Given the description of an element on the screen output the (x, y) to click on. 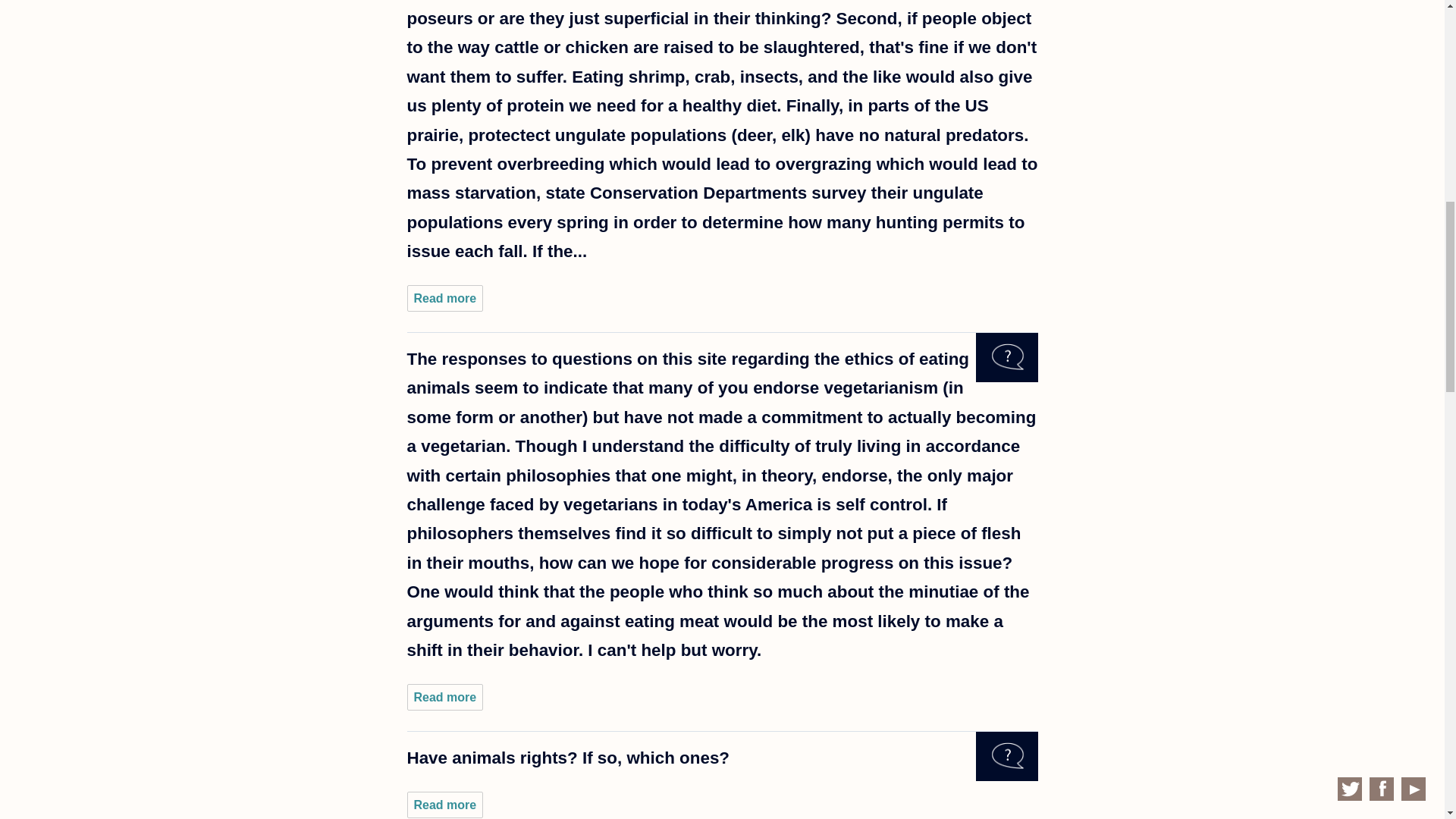
Have animals rights? If so, which ones? (444, 804)
